Given the description of an element on the screen output the (x, y) to click on. 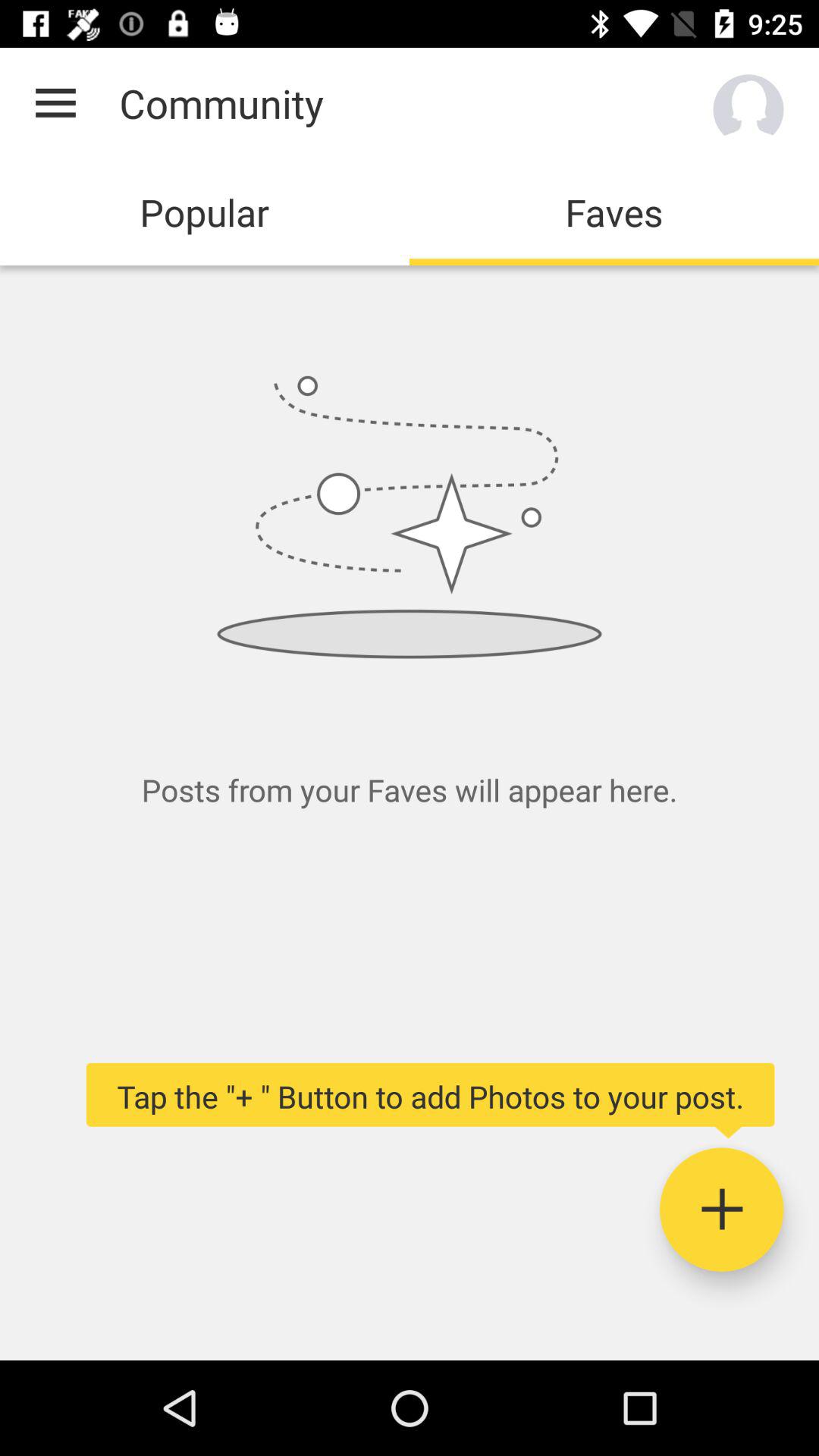
add photos (721, 1209)
